Given the description of an element on the screen output the (x, y) to click on. 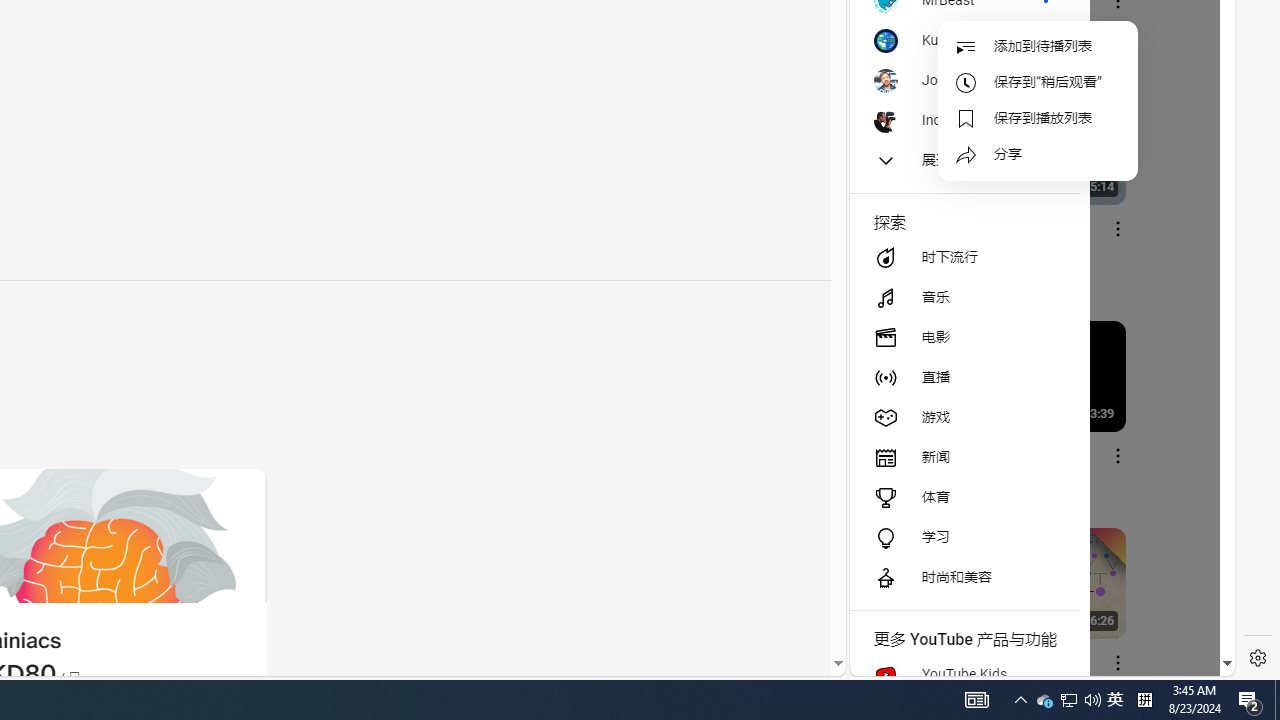
Actions for this site (1131, 443)
#you (1034, 439)
YouTube Kids (963, 674)
